Given the description of an element on the screen output the (x, y) to click on. 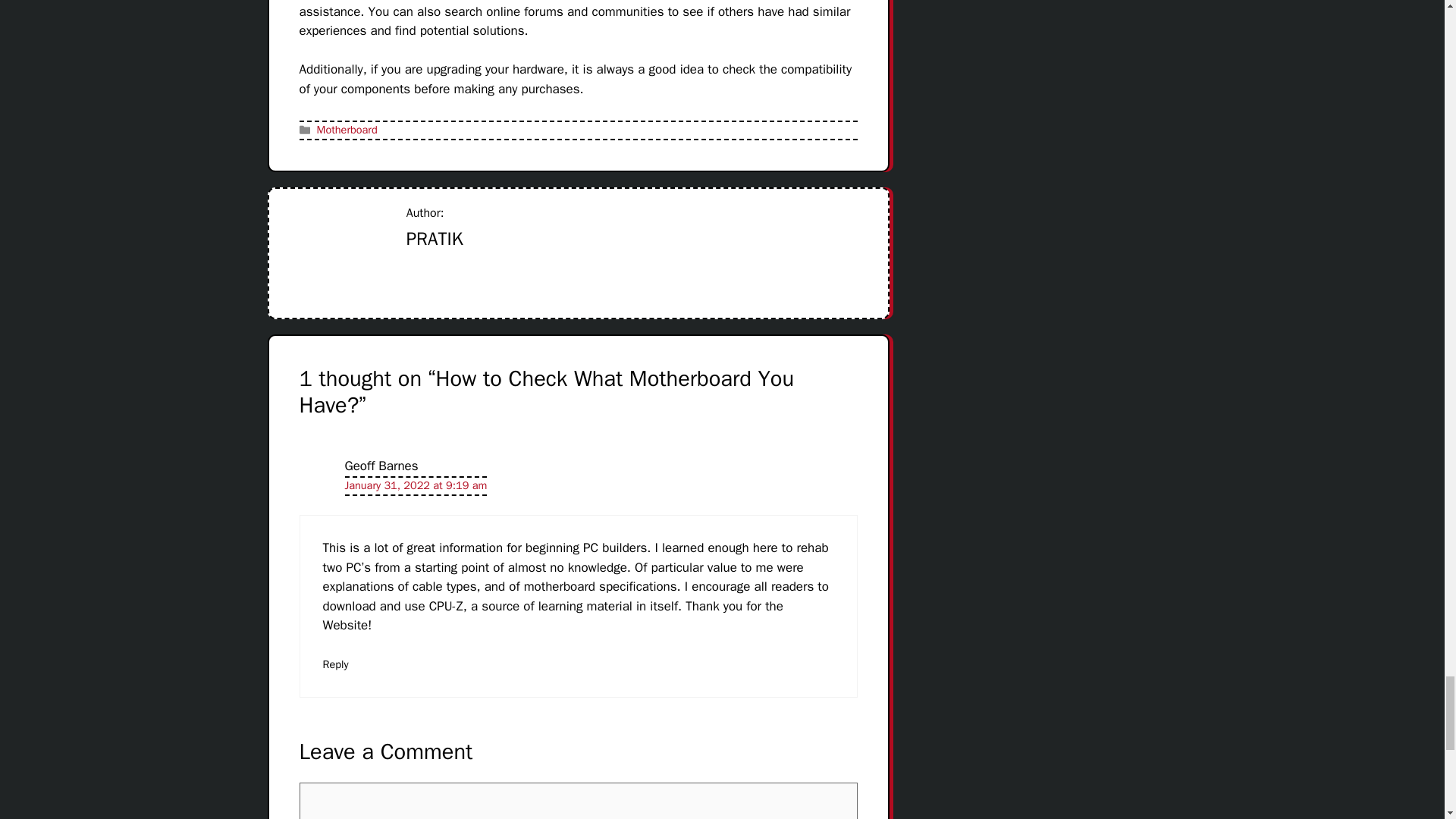
January 31, 2022 at 9:19 am (414, 485)
Reply (336, 663)
Motherboard (347, 129)
